Given the description of an element on the screen output the (x, y) to click on. 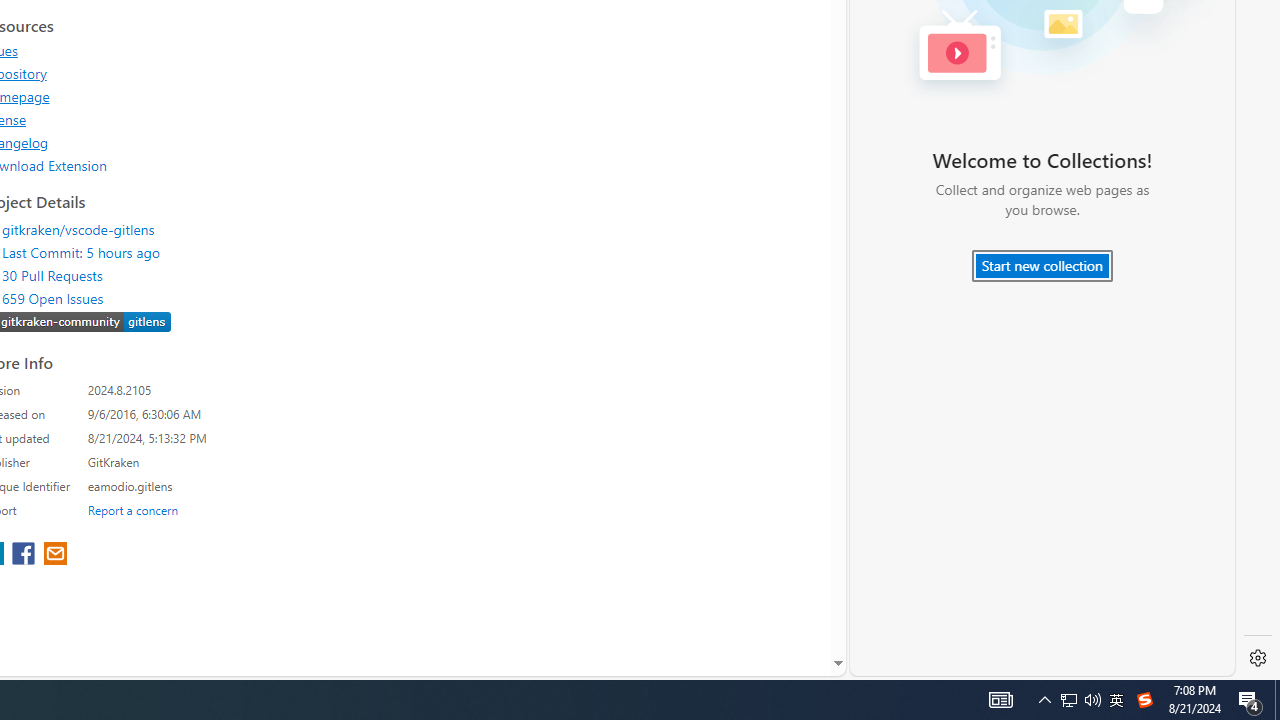
Report a concern (133, 509)
Start new collection (1042, 265)
share extension on facebook (26, 555)
share extension on email (54, 555)
